Given the description of an element on the screen output the (x, y) to click on. 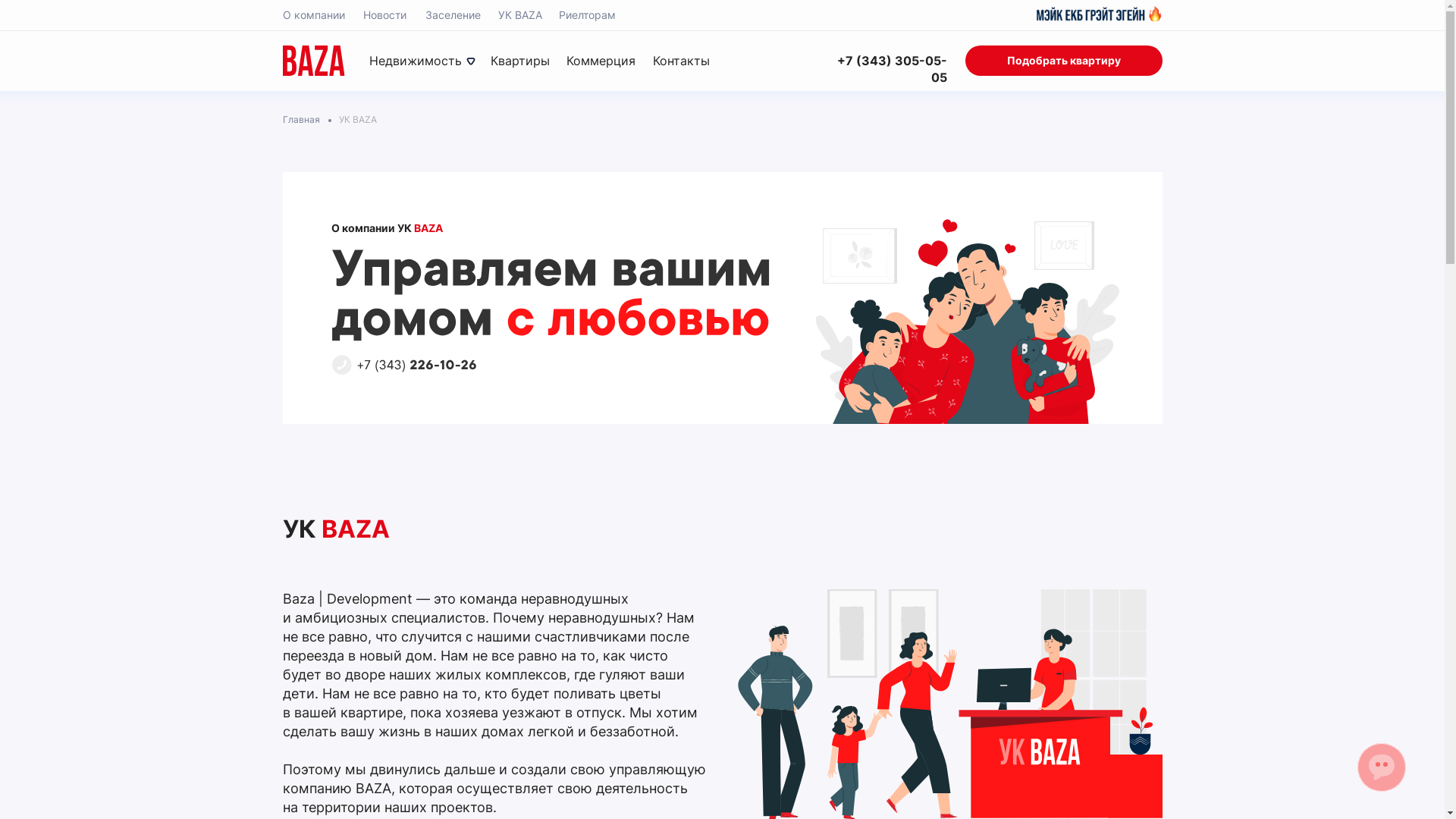
+7 (343) 305-05-05 Element type: text (884, 69)
